Given the description of an element on the screen output the (x, y) to click on. 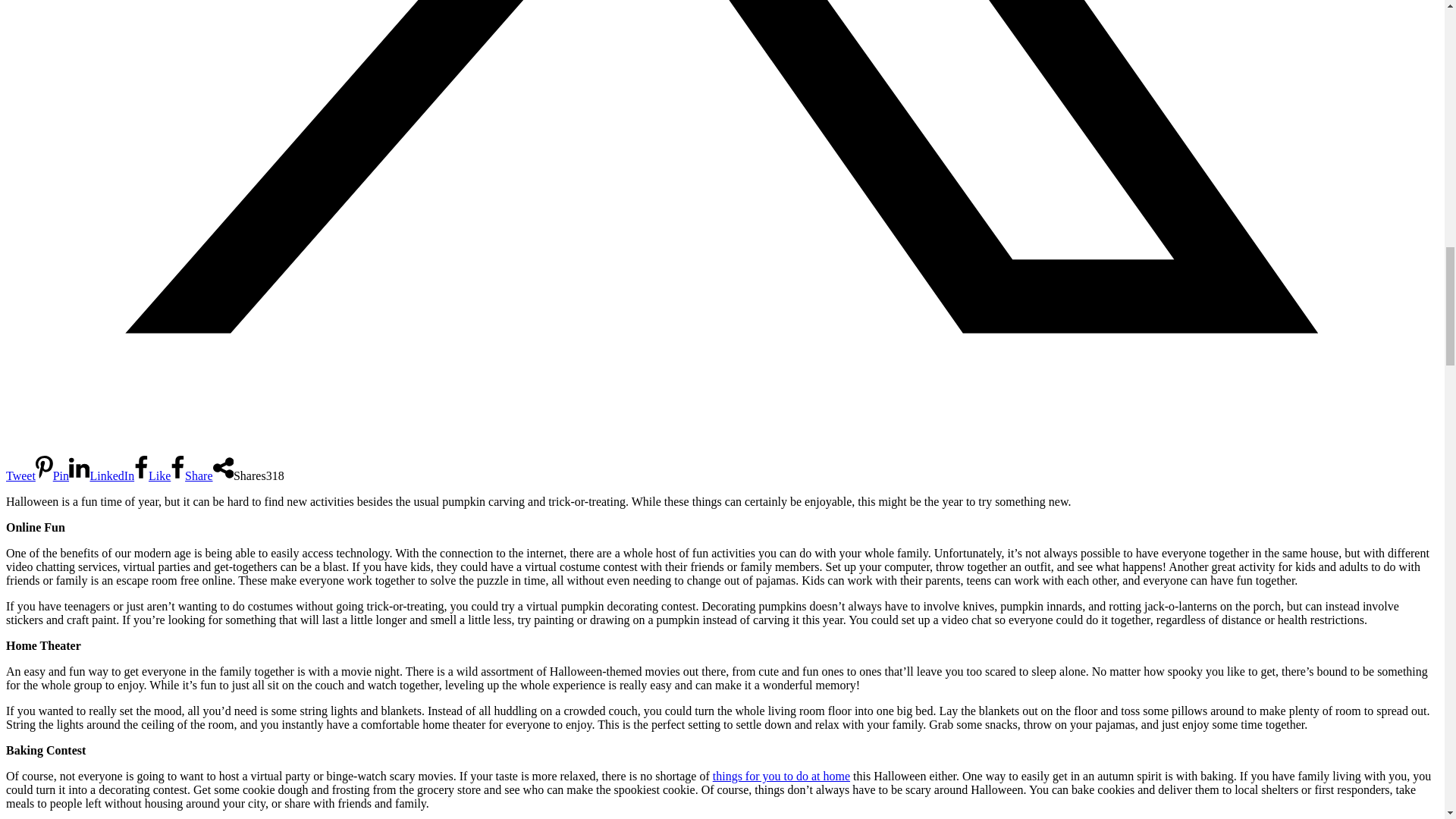
Share on Pinterest (51, 475)
LinkedIn (100, 475)
Like on Facebook (151, 475)
Pin (51, 475)
Share on Facebook (191, 475)
things for you to do at home (781, 775)
Share on LinkedIn (100, 475)
Share (191, 475)
Like (151, 475)
